Given the description of an element on the screen output the (x, y) to click on. 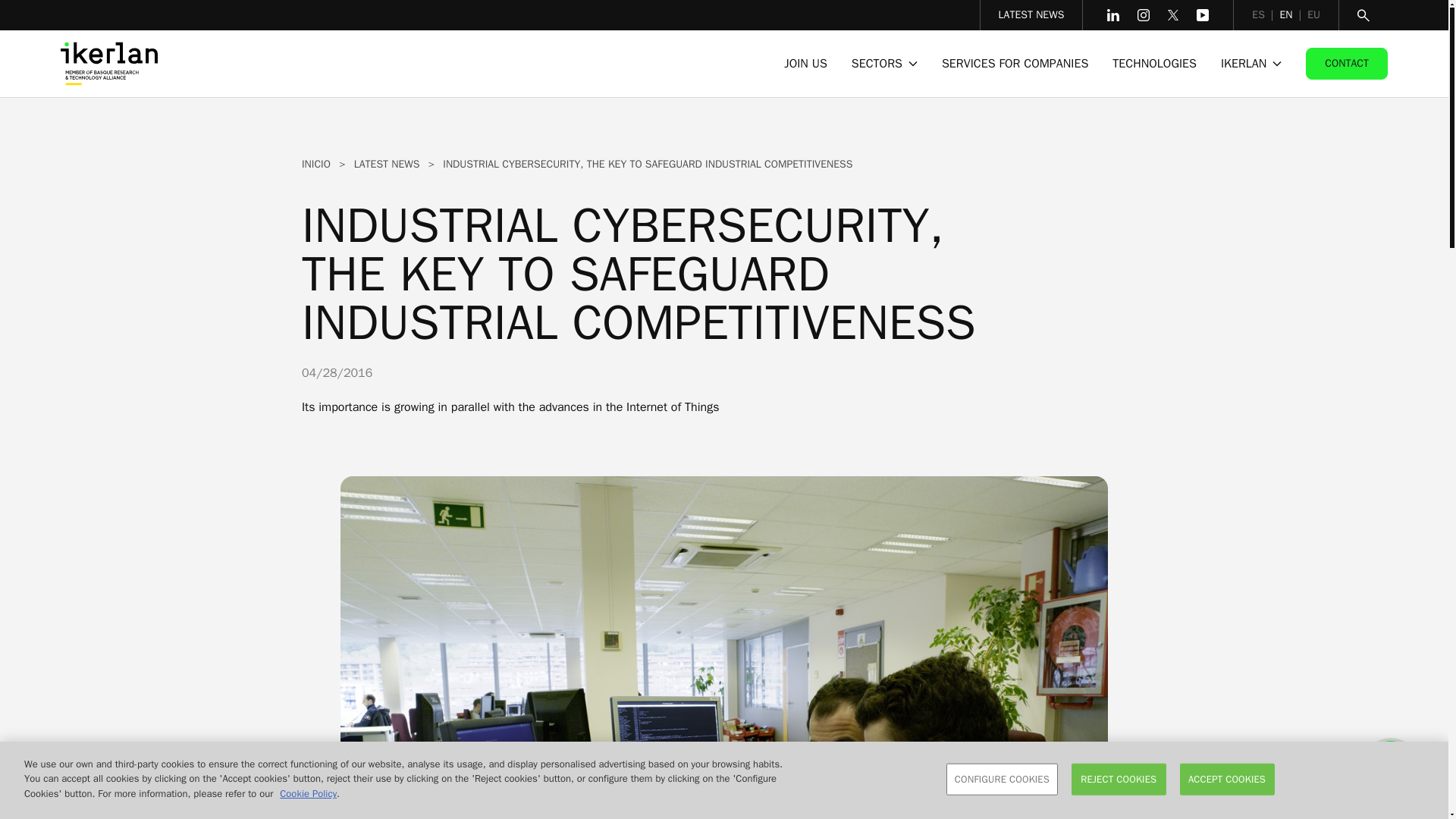
INICIO (315, 164)
SERVICES FOR COMPANIES (1014, 63)
IKERLAN (1251, 63)
EN (1285, 14)
EU (1313, 14)
ES (1258, 14)
LATEST NEWS (1031, 14)
JOIN US (805, 63)
TECHNOLOGIES (1154, 63)
SECTORS (884, 63)
